Given the description of an element on the screen output the (x, y) to click on. 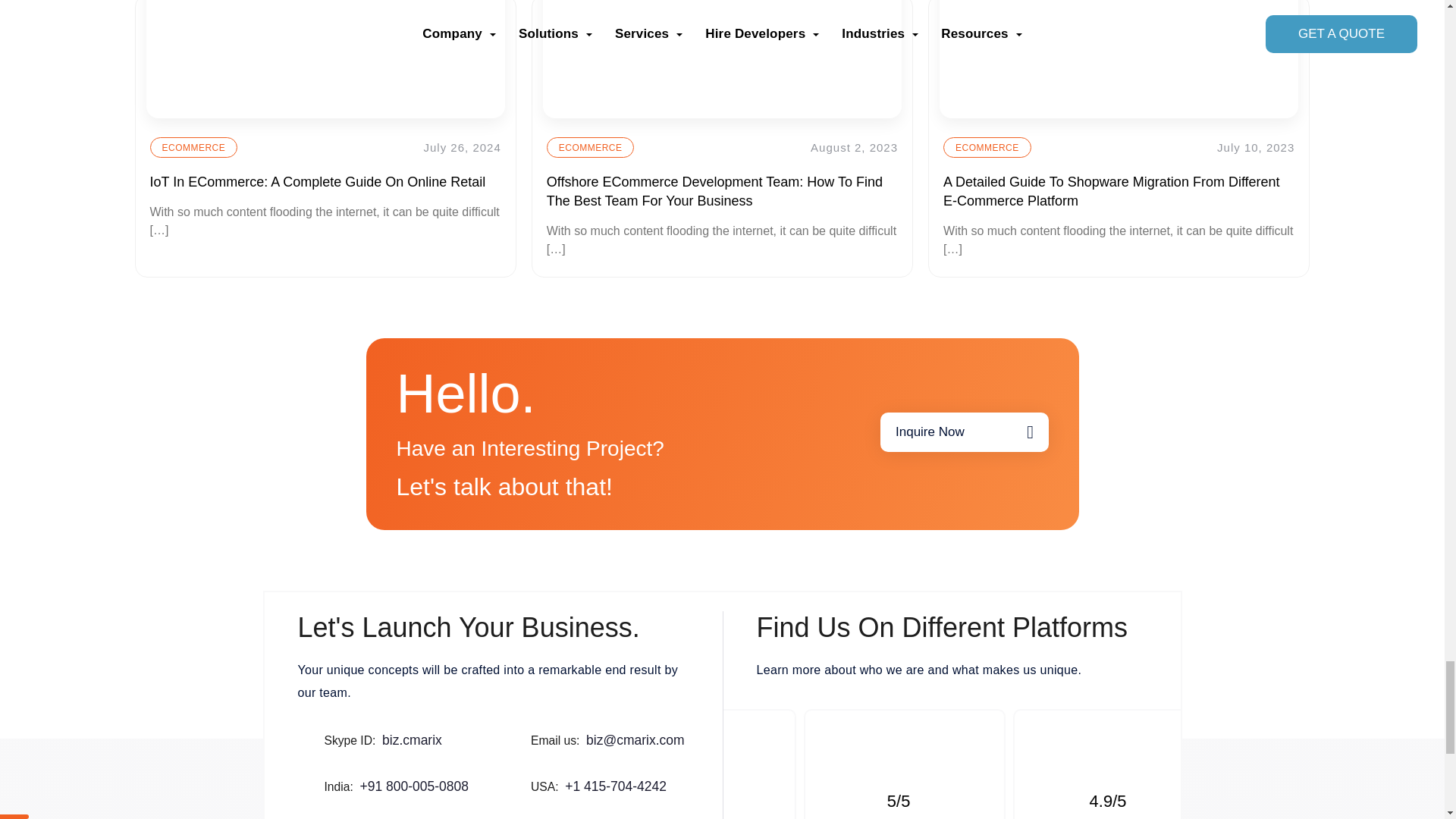
IoT in eCommerce: A Complete Guide on Online Retail (324, 58)
eCommerce (193, 147)
